Given the description of an element on the screen output the (x, y) to click on. 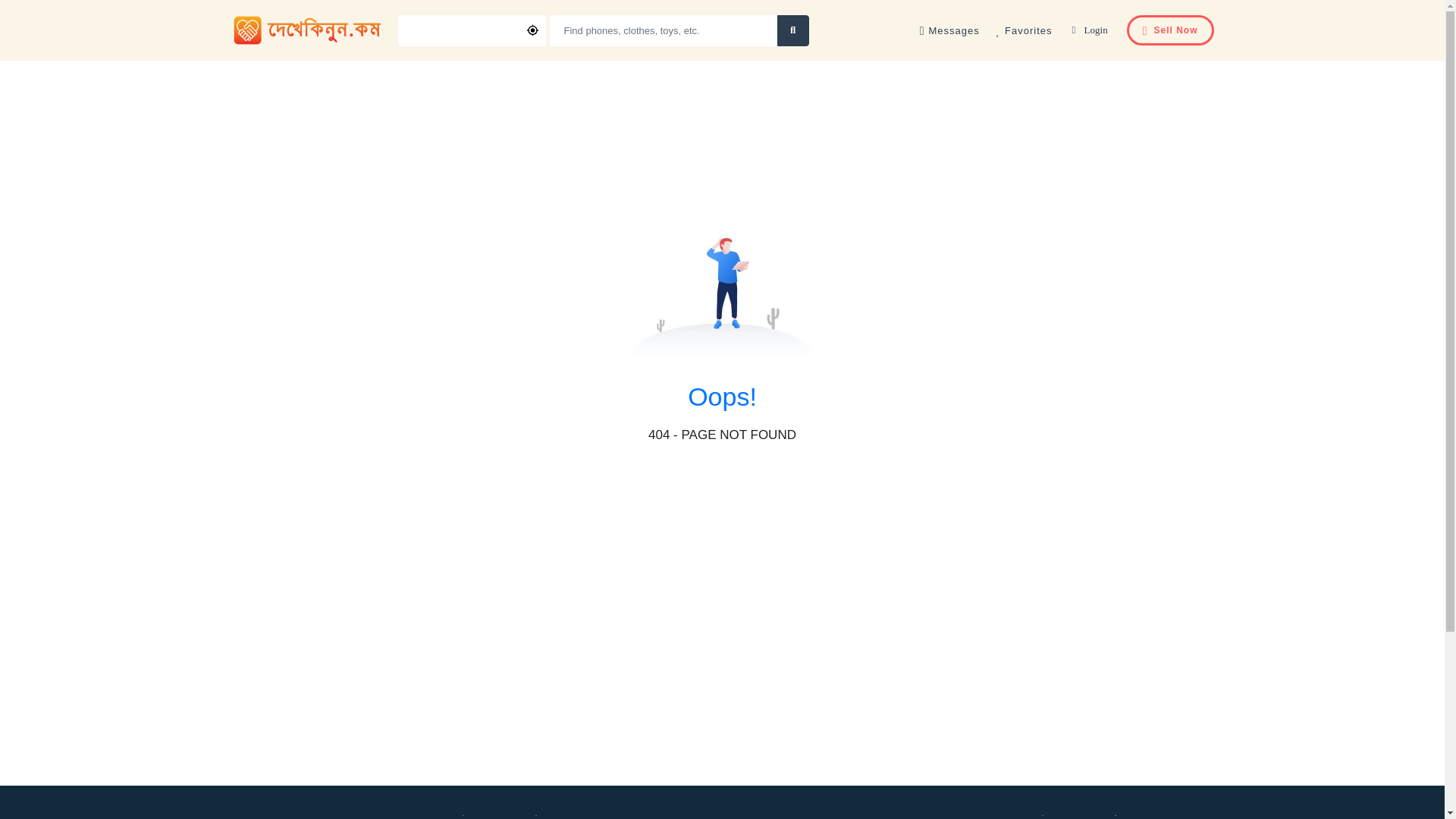
Favorites (1023, 30)
Search (792, 30)
Messages (948, 30)
Sell Now (1170, 30)
